Given the description of an element on the screen output the (x, y) to click on. 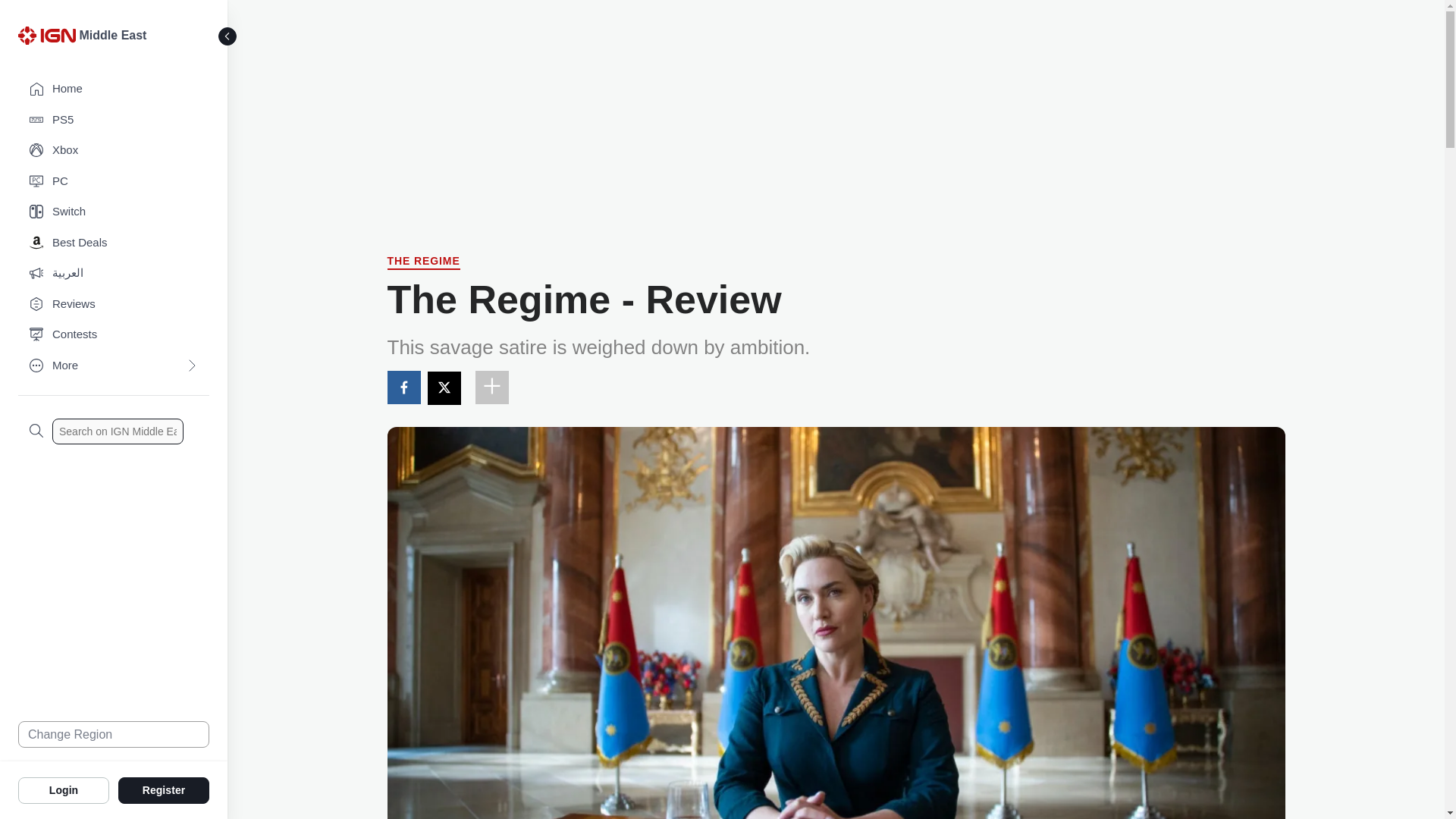
PS5 (113, 119)
Best Deals (113, 242)
Contests (113, 334)
The Regime (423, 262)
Switch (113, 211)
Toggle Sidebar (226, 36)
More (113, 365)
Home (113, 89)
Login (63, 789)
IGN Logo (46, 34)
